Given the description of an element on the screen output the (x, y) to click on. 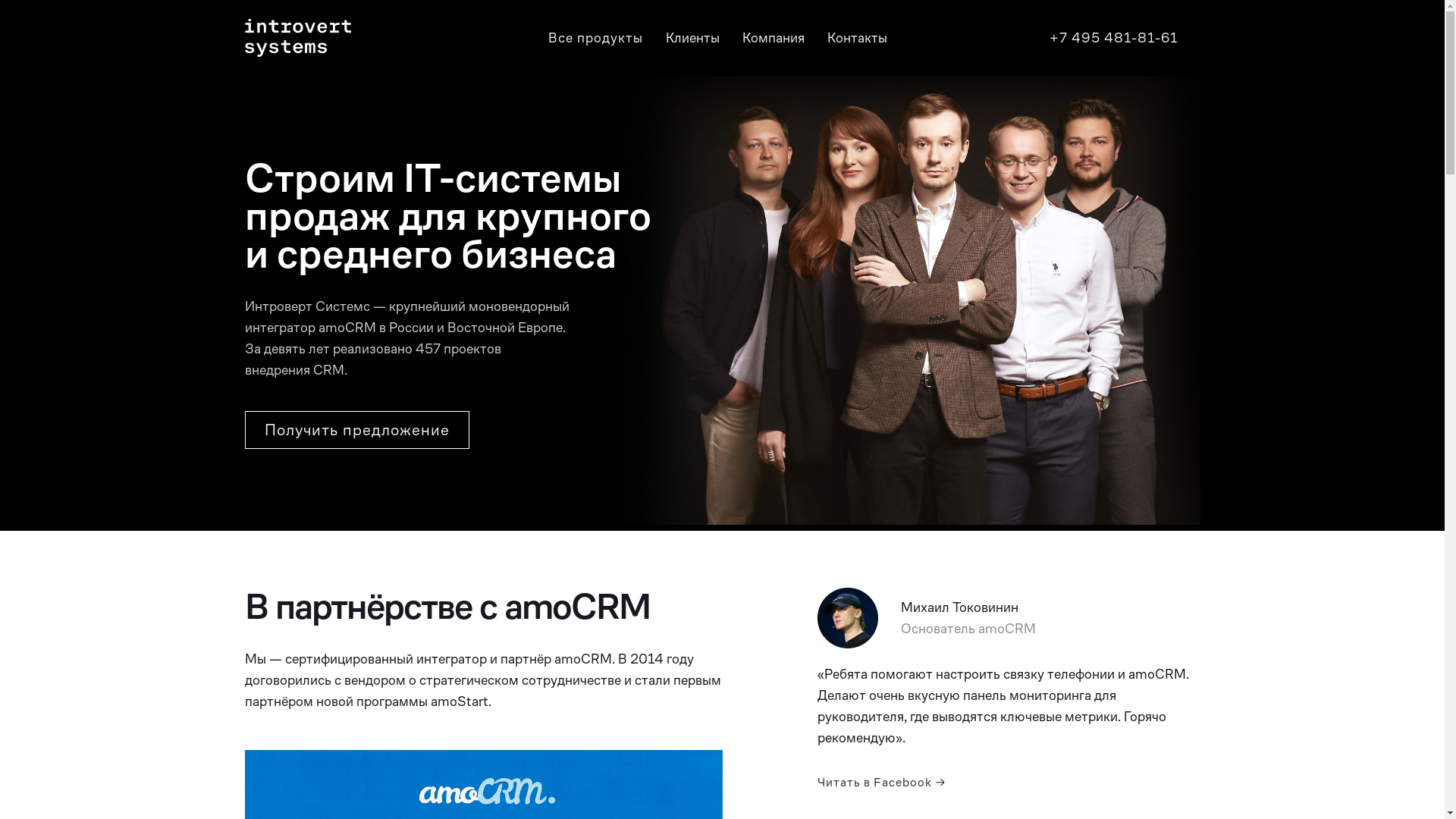
+7 495 481-81-61 Element type: text (1113, 37)
